Given the description of an element on the screen output the (x, y) to click on. 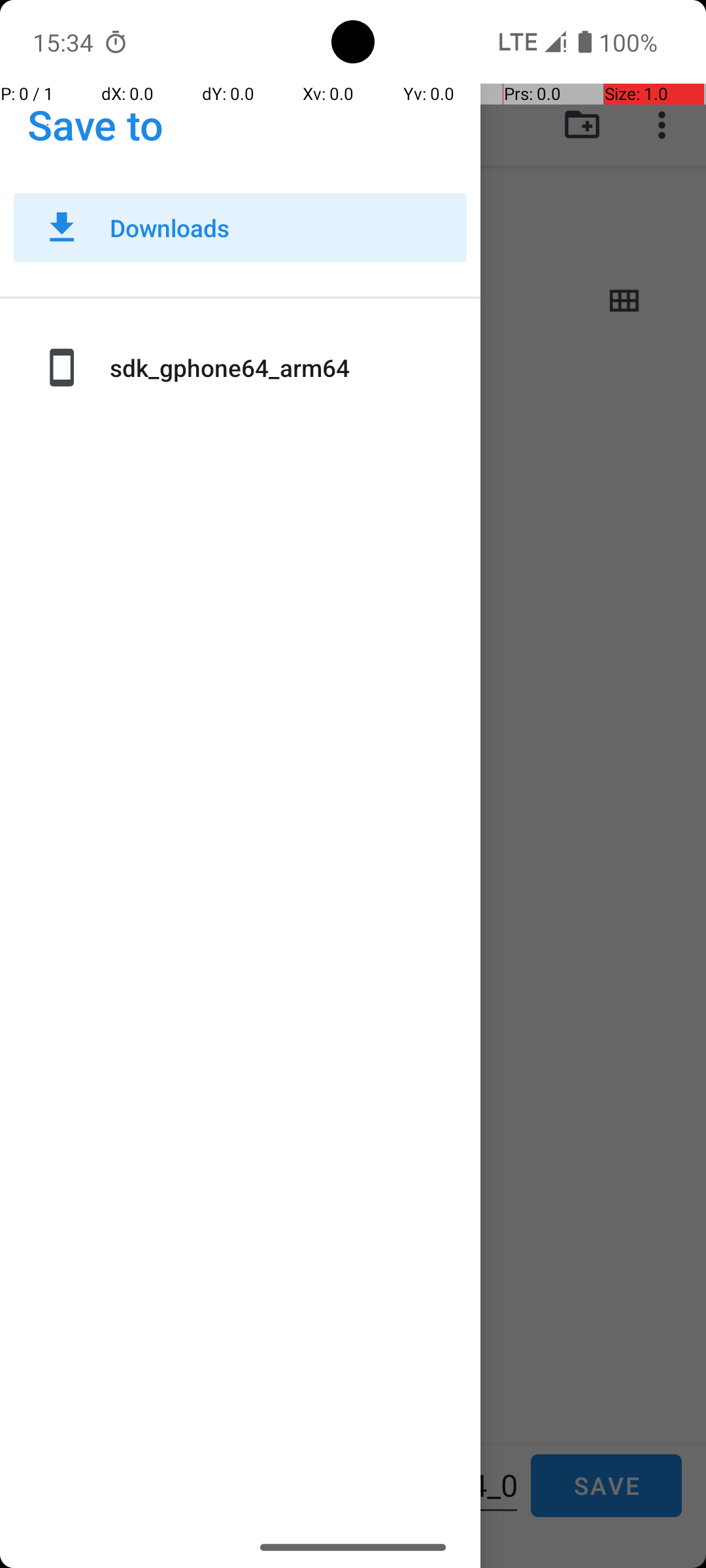
Save to Element type: android.widget.TextView (95, 124)
